Given the description of an element on the screen output the (x, y) to click on. 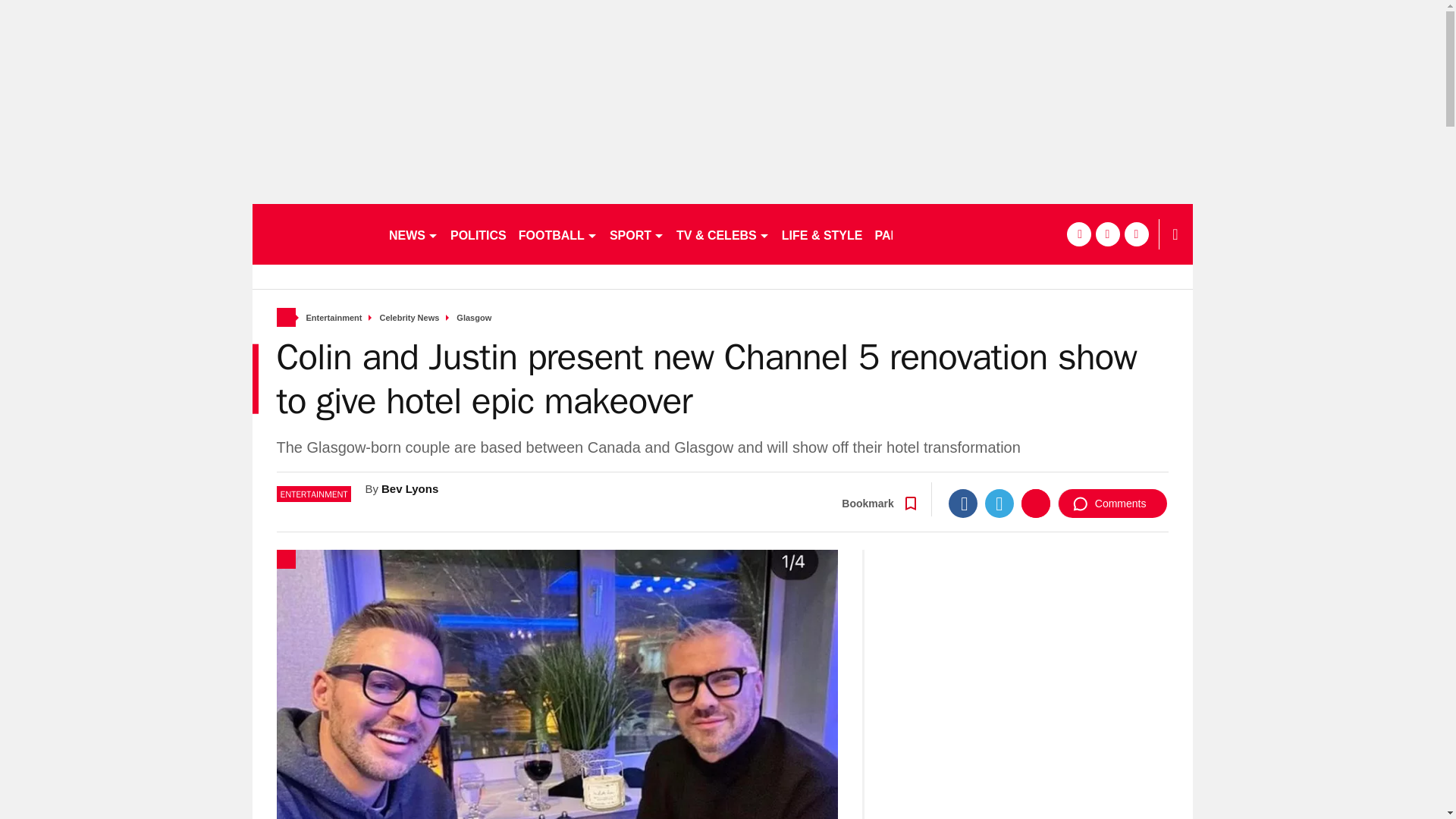
Comments (1112, 502)
Facebook (962, 502)
instagram (1136, 233)
Twitter (999, 502)
POLITICS (478, 233)
dailyrecord (313, 233)
facebook (1077, 233)
twitter (1106, 233)
SPORT (636, 233)
NEWS (413, 233)
FOOTBALL (558, 233)
